Given the description of an element on the screen output the (x, y) to click on. 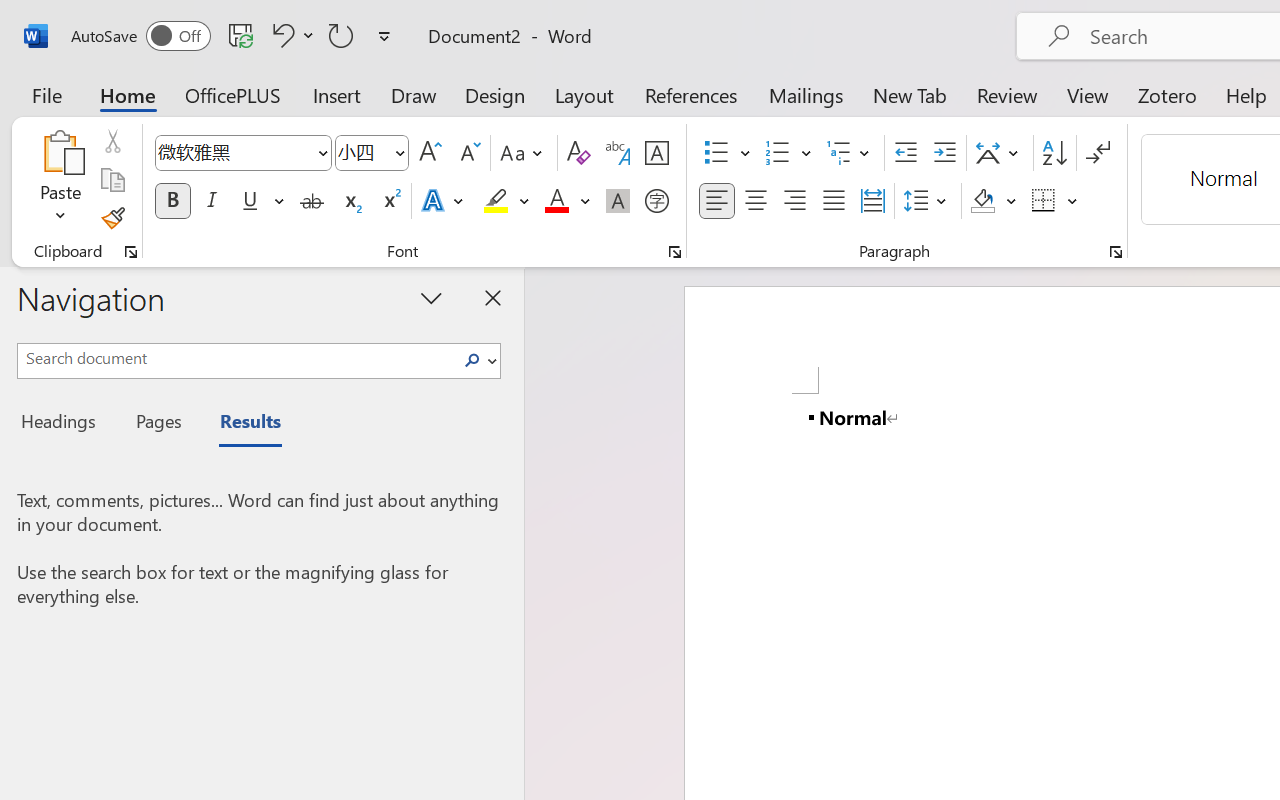
Customize Quick Access Toolbar (384, 35)
Font (242, 153)
Grow Font (430, 153)
Search document (236, 358)
Review (1007, 94)
Format Painter (112, 218)
Numbering (788, 153)
Character Shading (618, 201)
OfficePLUS (233, 94)
Results (240, 424)
Home (127, 94)
Superscript (390, 201)
Clear Formatting (578, 153)
Bullets (727, 153)
Font Size (372, 153)
